Given the description of an element on the screen output the (x, y) to click on. 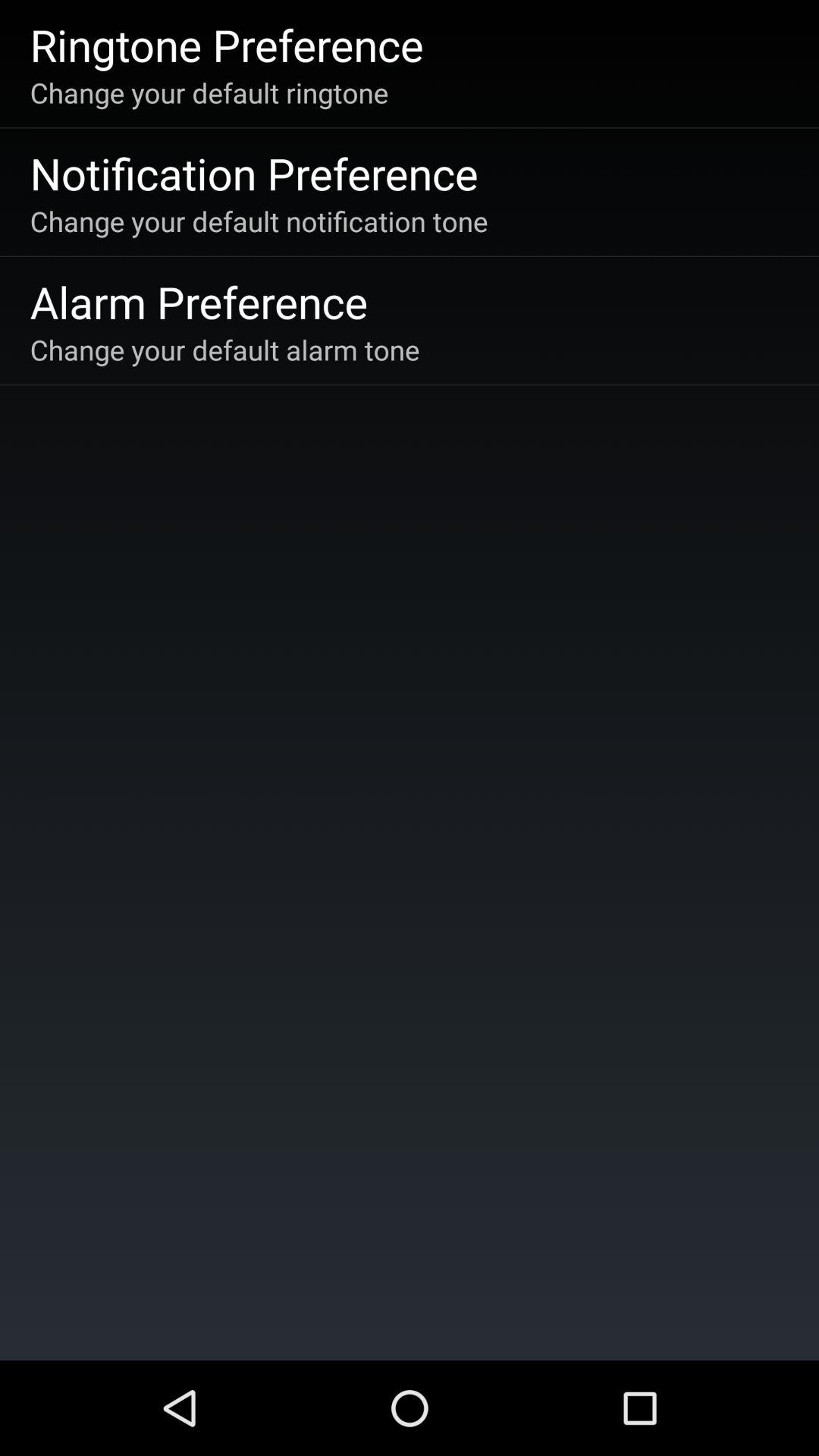
turn on ringtone preference (226, 44)
